Given the description of an element on the screen output the (x, y) to click on. 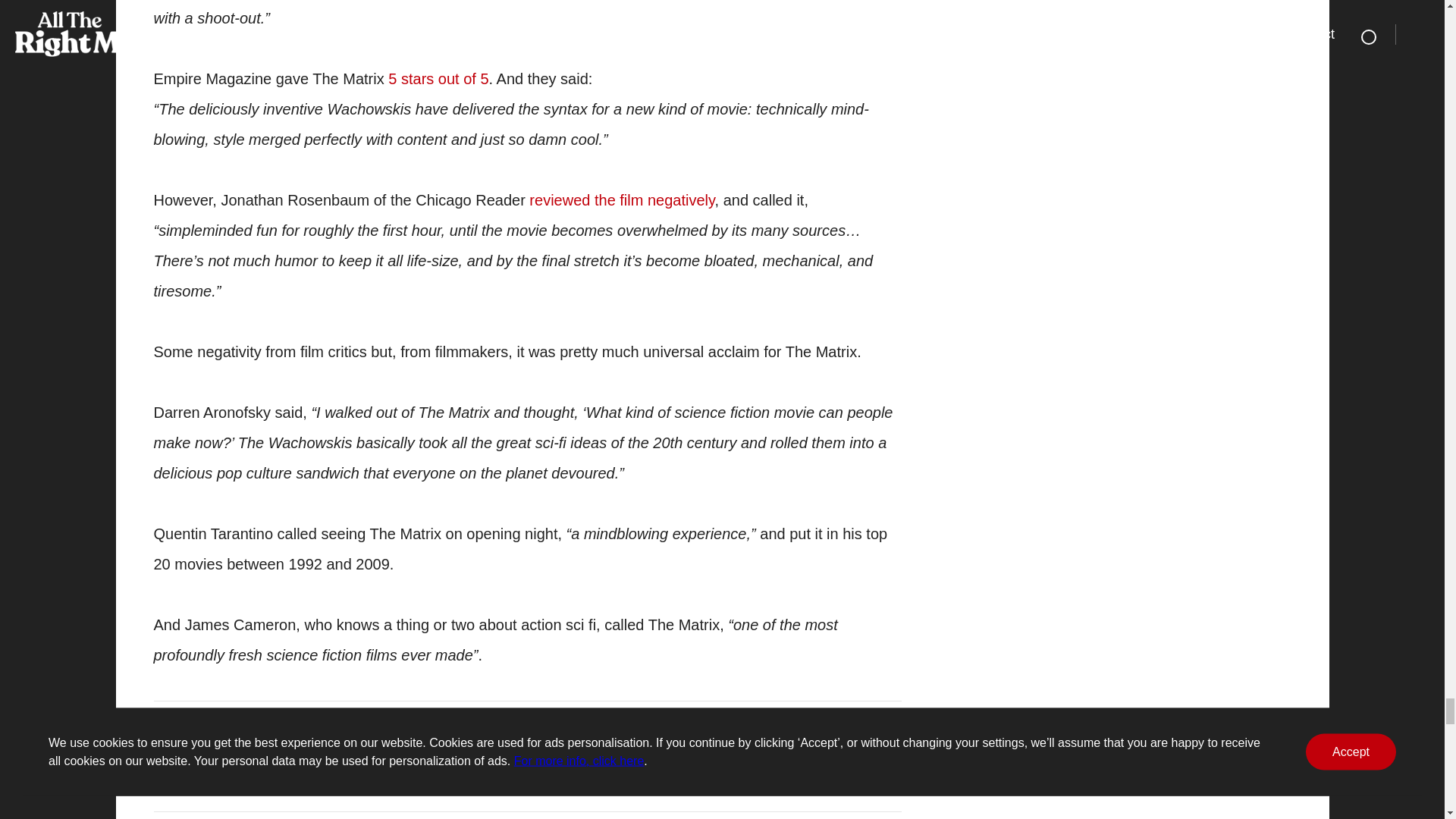
reviewed the film negatively (621, 199)
listen to our podcast on The Matrix (674, 765)
5 stars out of 5 (437, 78)
